Given the description of an element on the screen output the (x, y) to click on. 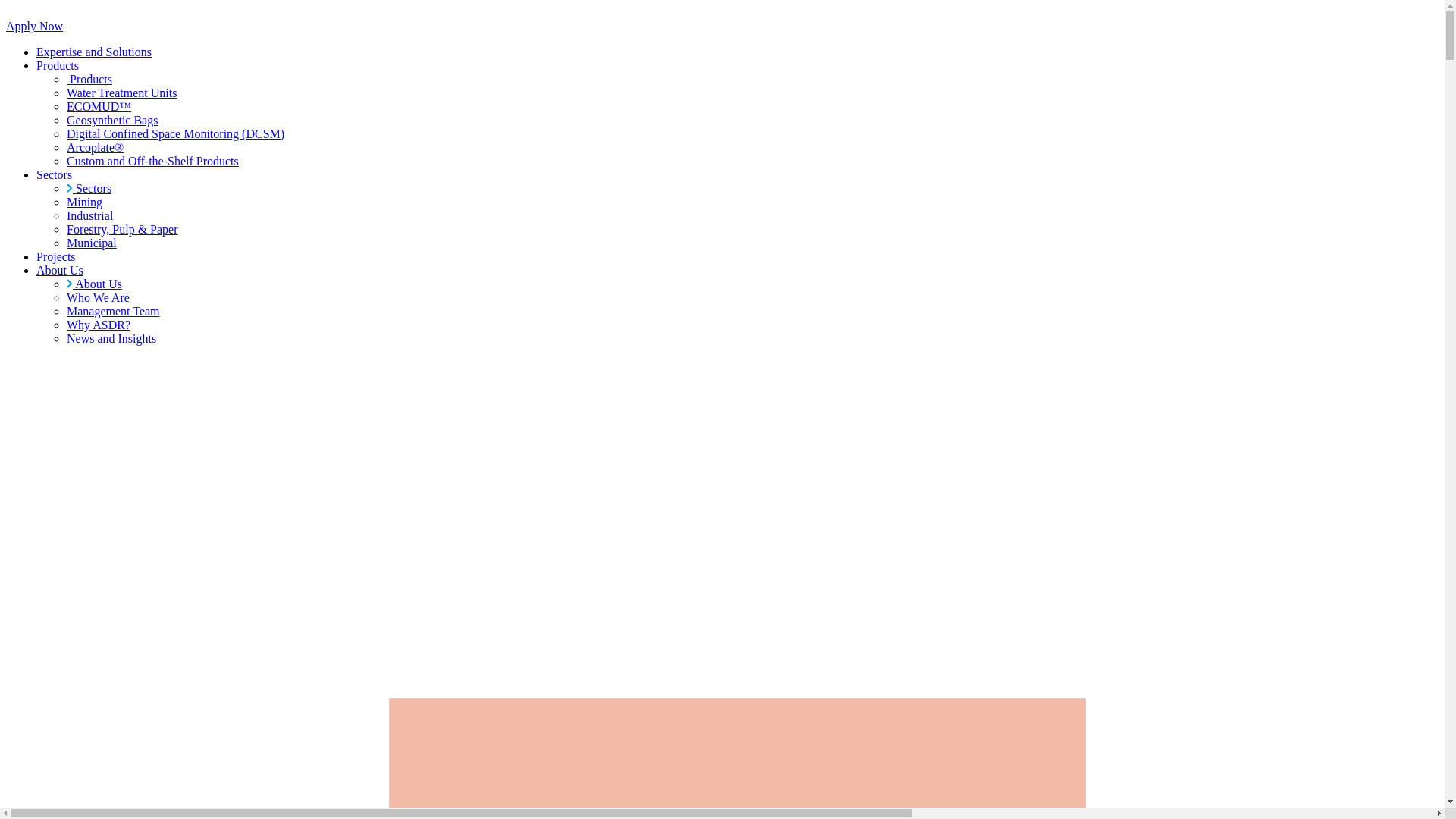
Management Team Element type: text (113, 310)
Projects Element type: text (55, 256)
Sectors Element type: text (88, 188)
Mining Element type: text (84, 201)
Products Element type: text (89, 78)
Products Element type: text (57, 65)
Apply Now Element type: text (34, 25)
Geosynthetic Bags Element type: text (111, 119)
Sectors Element type: text (54, 174)
News and Insights Element type: text (111, 338)
Expertise and Solutions Element type: text (93, 51)
Water Treatment Units Element type: text (121, 92)
Industrial Element type: text (89, 215)
Digital Confined Space Monitoring (DCSM) Element type: text (175, 133)
Who We Are Element type: text (97, 297)
Municipal Element type: text (91, 242)
Forestry, Pulp & Paper Element type: text (122, 228)
Why ASDR? Element type: text (98, 324)
Custom and Off-the-Shelf Products Element type: text (152, 160)
About Us Element type: text (59, 269)
About Us Element type: text (94, 283)
